Given the description of an element on the screen output the (x, y) to click on. 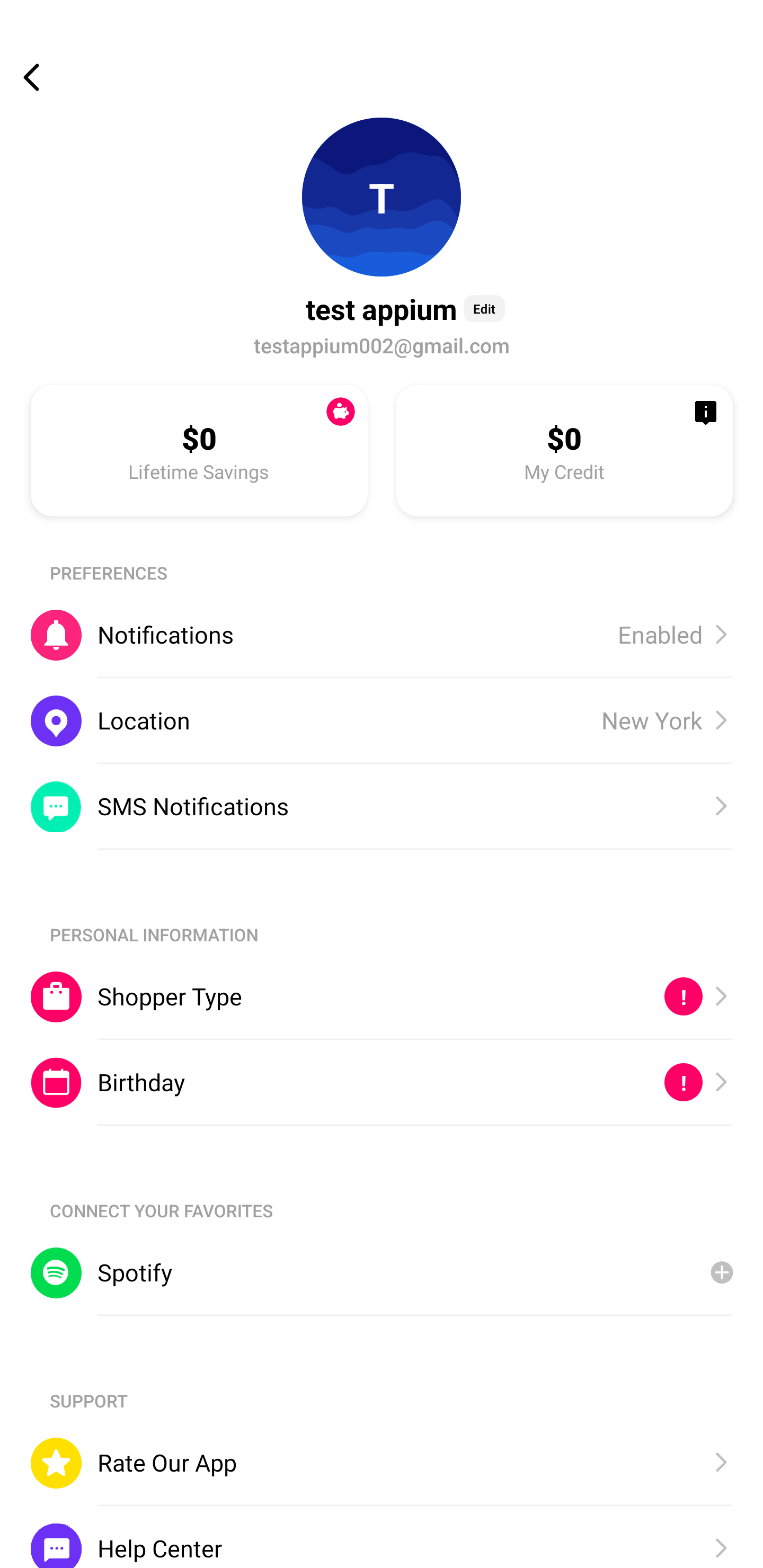
T (381, 196)
Edit (484, 307)
$0, Lifetime Savings $0 Lifetime Savings (198, 449)
$0, My Credit $0 My Credit (563, 449)
Location, New York Location New York (381, 720)
SMS Notifications,    SMS Notifications    (381, 806)
Shopper Type,   , ! Shopper Type    ! (381, 996)
Birthday,   , ! Birthday    ! (381, 1082)
Spotify,    Spotify    (381, 1272)
Rate Our App,    Rate Our App    (381, 1462)
Help Center,    Help Center    (381, 1536)
